Given the description of an element on the screen output the (x, y) to click on. 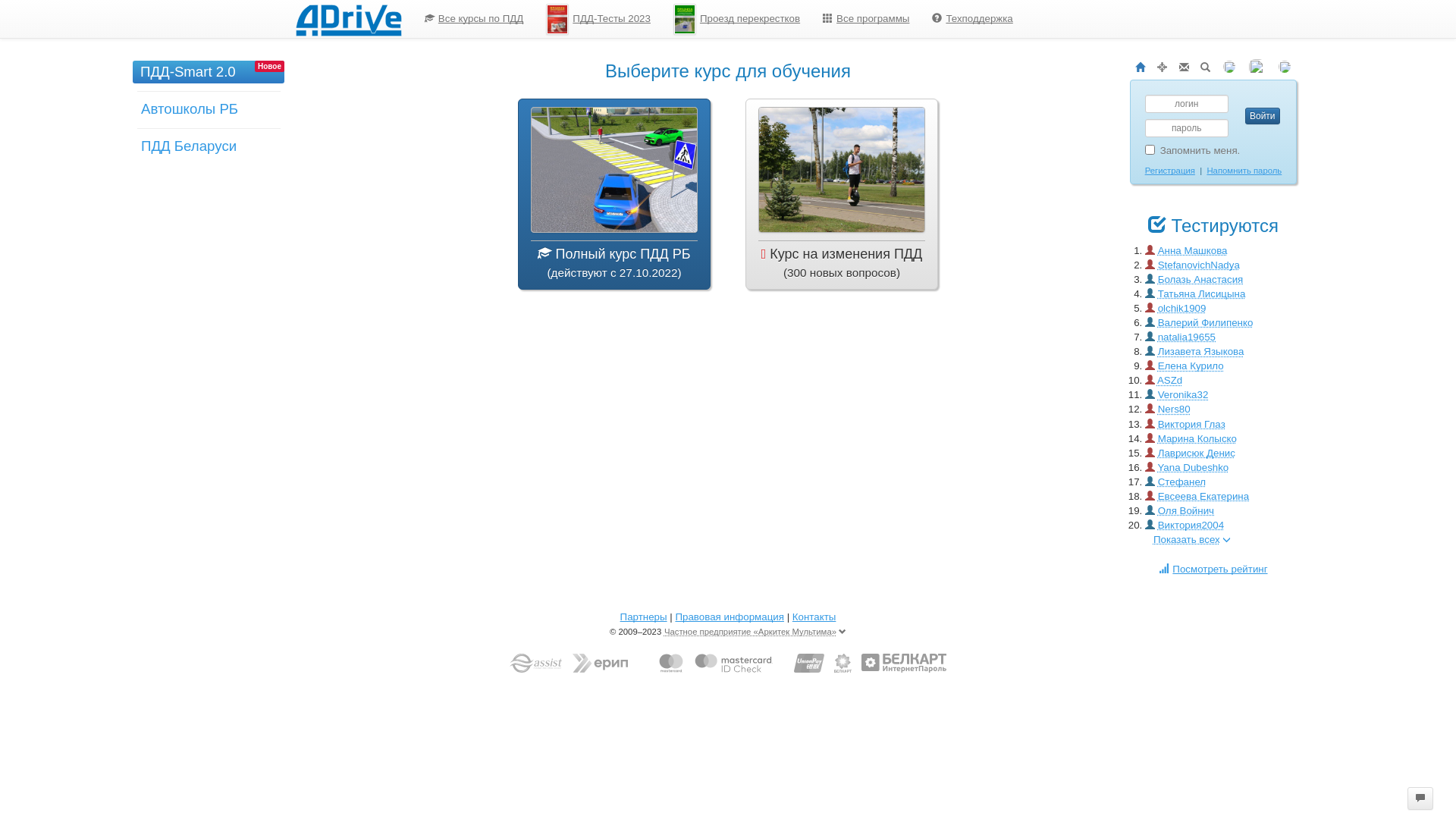
StefanovichNadya Element type: text (1198, 264)
olchik1909 Element type: text (1181, 307)
natalia19655 Element type: text (1186, 336)
Yana Dubeshko Element type: text (1192, 467)
Veronika32 Element type: text (1182, 394)
ASZd Element type: text (1169, 379)
Ners80 Element type: text (1173, 408)
